Given the description of an element on the screen output the (x, y) to click on. 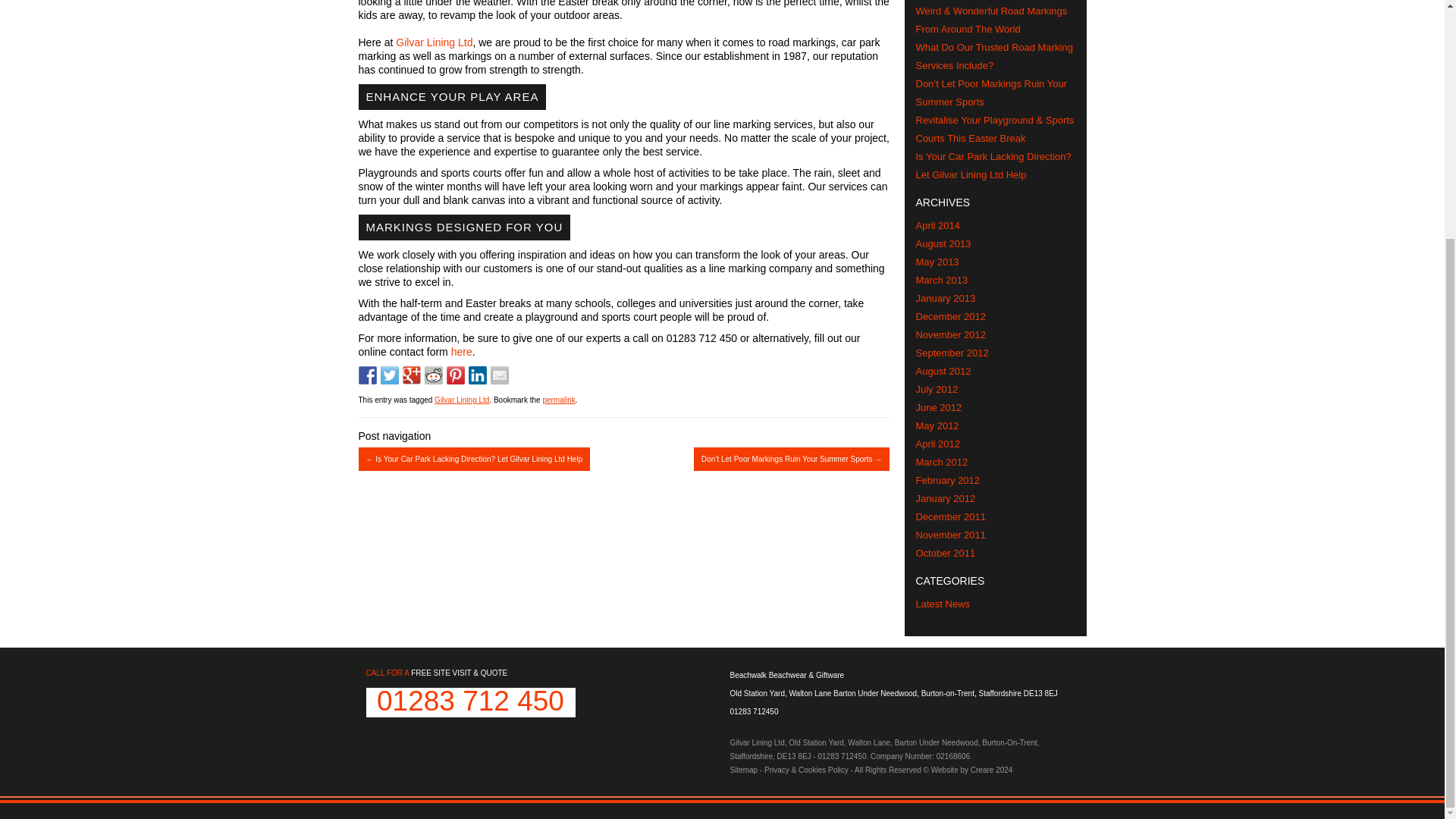
Share on Facebook (366, 375)
Call Gilvar Linings (841, 756)
April 2014 (937, 225)
Pin it with Pinterest (454, 375)
Share by email (498, 375)
Gilvar Lining Ltd (433, 42)
permalink (558, 399)
Share on Reddit (433, 375)
Share on Linkedin (477, 375)
here (461, 351)
